Given the description of an element on the screen output the (x, y) to click on. 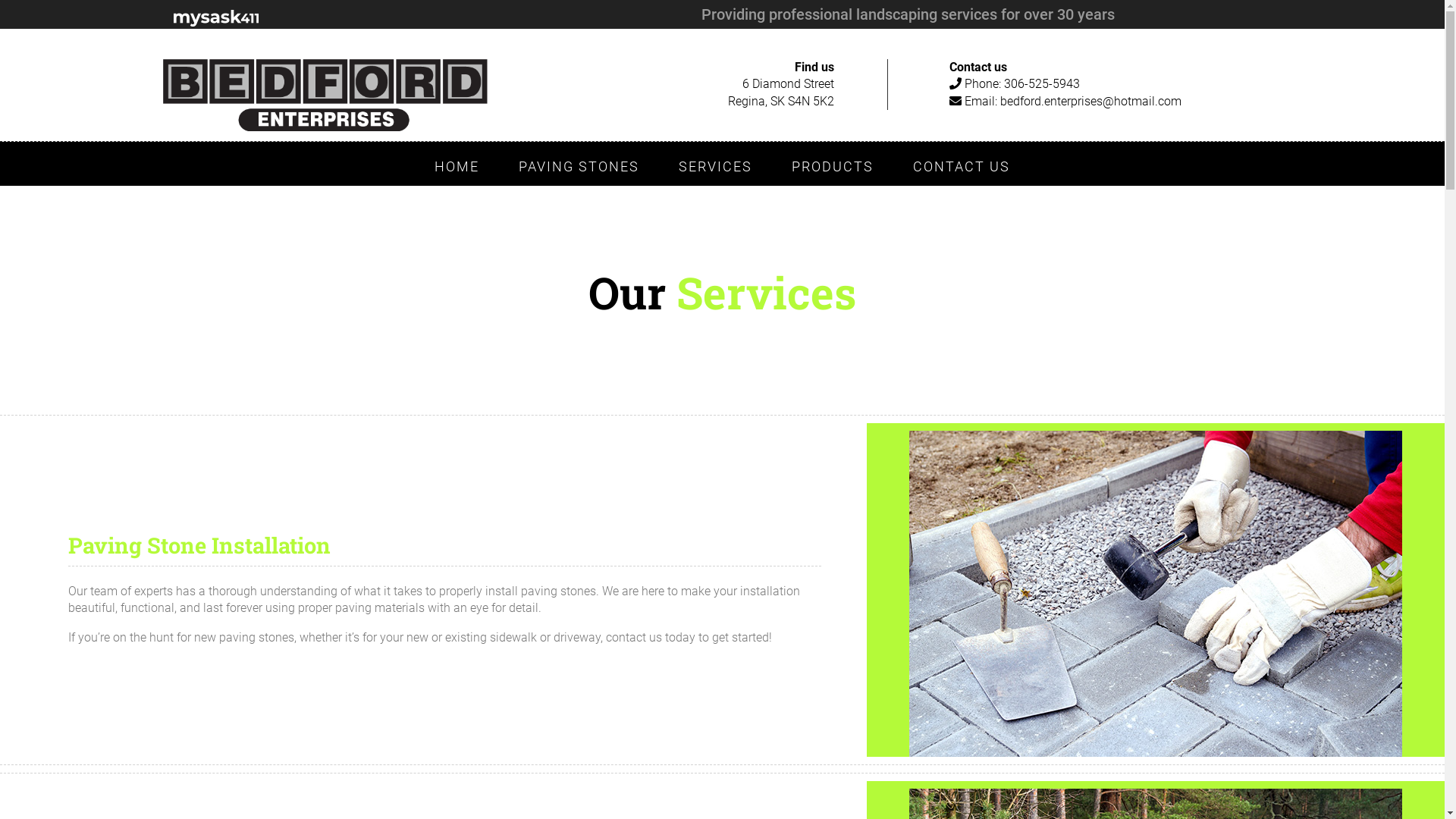
HOME Element type: text (456, 166)
306-525-5943 Element type: text (1041, 83)
CONTACT US Element type: text (961, 166)
PRODUCTS Element type: text (832, 166)
bedford.enterprises@hotmail.com Element type: text (1090, 101)
PAVING STONES Element type: text (578, 166)
SERVICES Element type: text (715, 166)
